Given the description of an element on the screen output the (x, y) to click on. 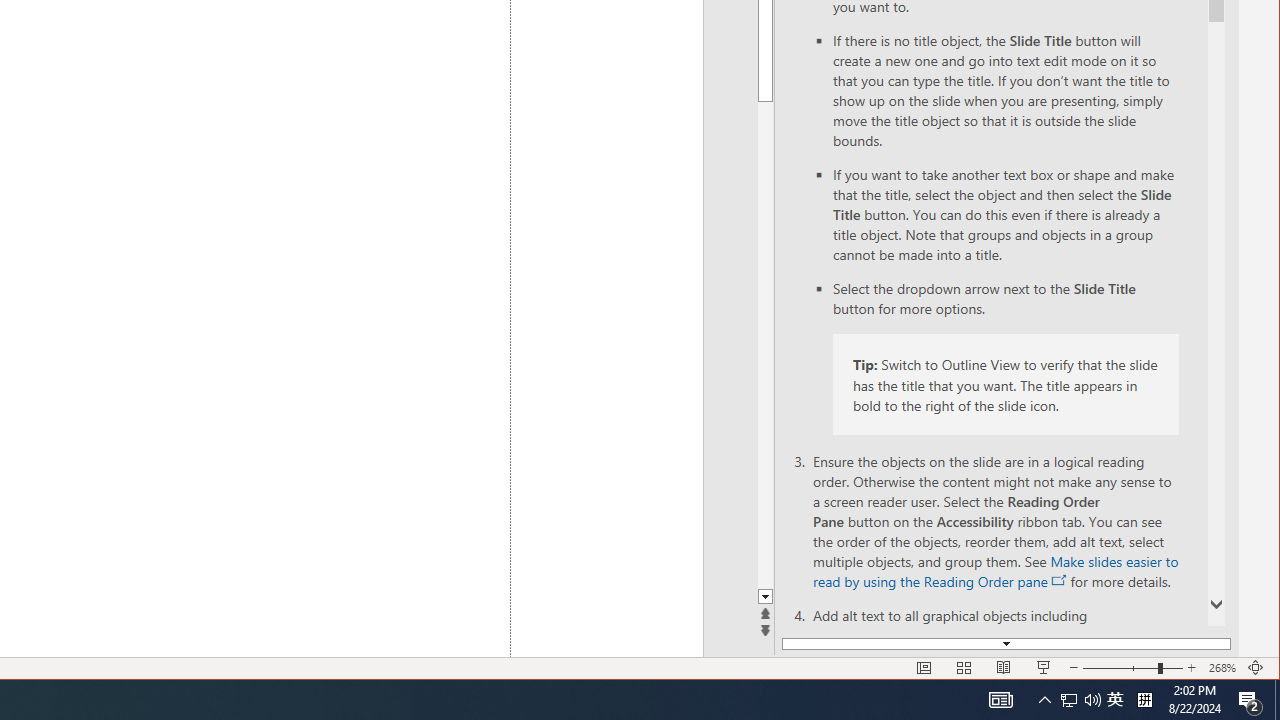
openinnewwindow (1059, 580)
Zoom 268% (1222, 668)
